Given the description of an element on the screen output the (x, y) to click on. 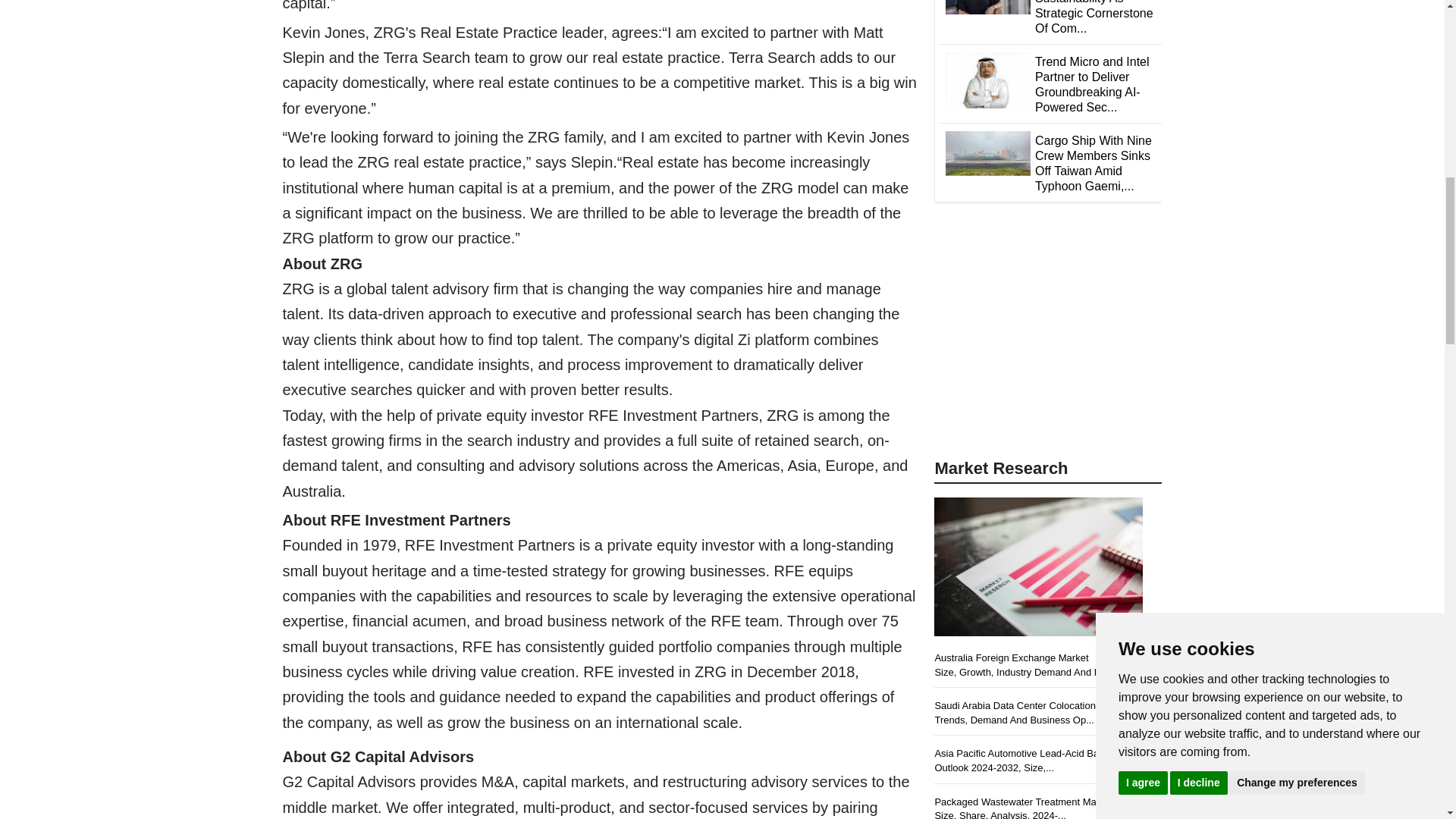
Advertisement (1047, 341)
